Given the description of an element on the screen output the (x, y) to click on. 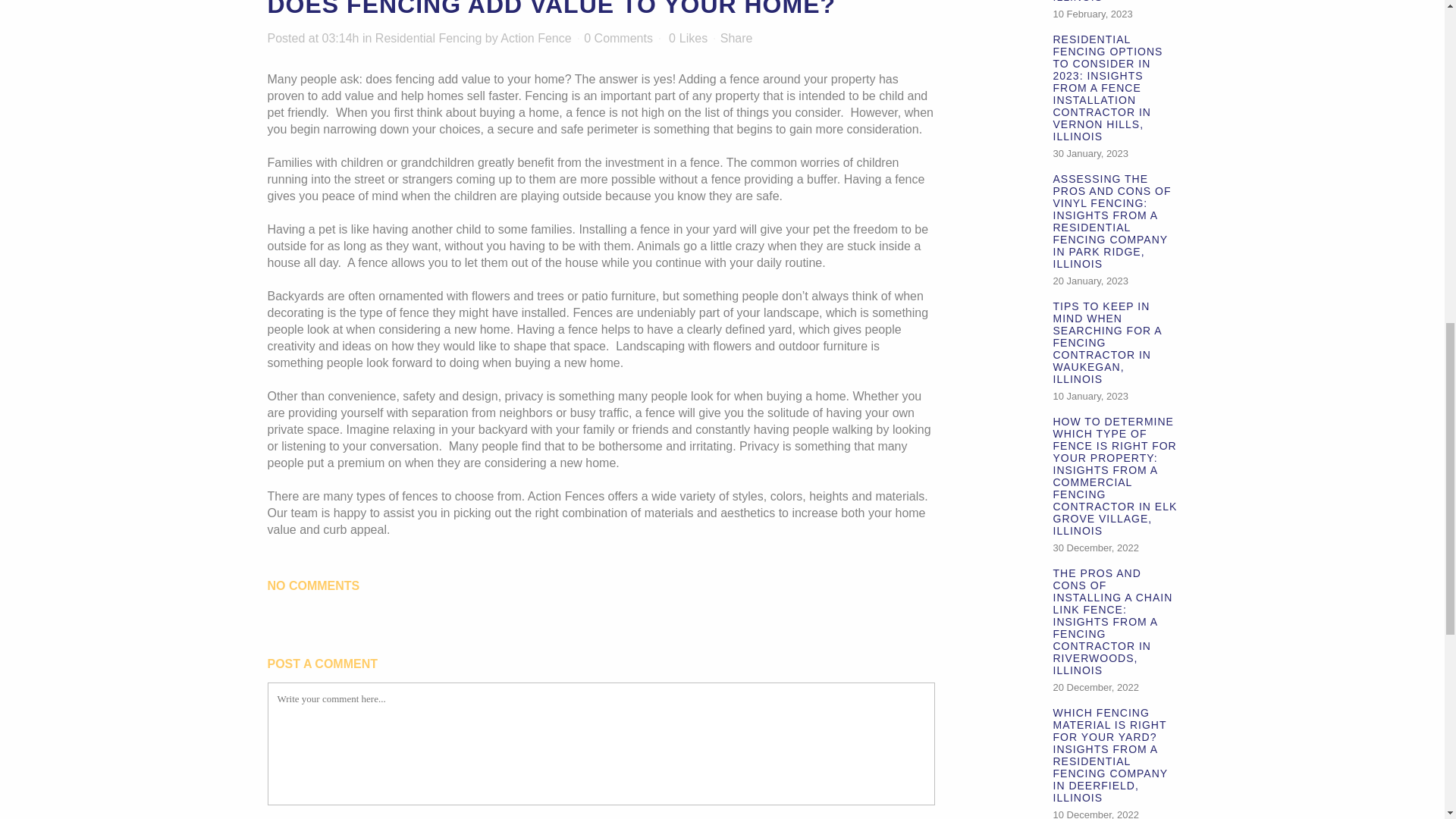
0 Comments (617, 38)
Like this (687, 38)
Residential Fencing (428, 38)
Share (736, 38)
0 Likes (687, 38)
Action Fence (535, 38)
